Given the description of an element on the screen output the (x, y) to click on. 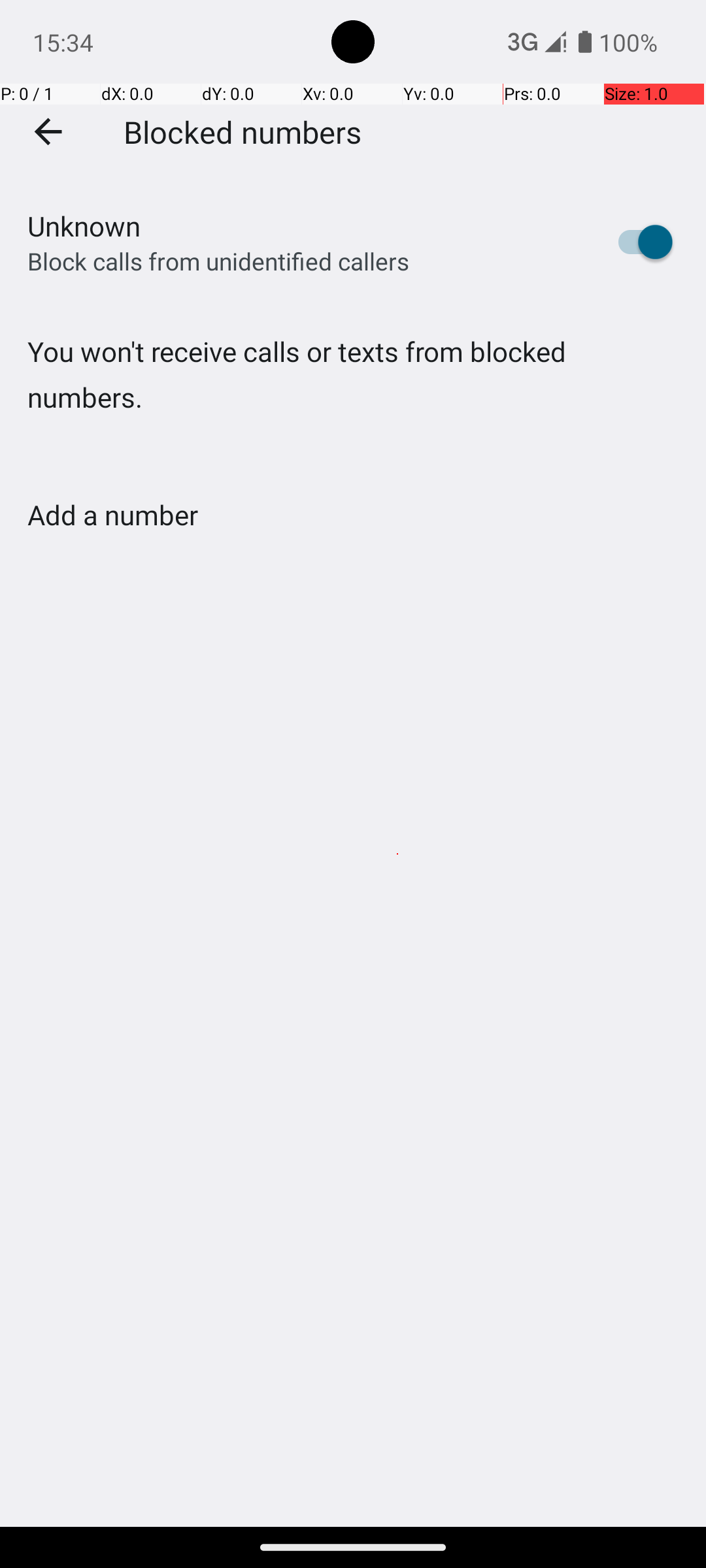
Blocked numbers Element type: android.widget.TextView (242, 131)
You won't receive calls or texts from blocked numbers. Element type: android.widget.TextView (352, 401)
Add a number Element type: android.widget.TextView (112, 514)
Unknown Element type: android.widget.TextView (83, 225)
Block calls from unidentified callers Element type: android.widget.TextView (218, 260)
